Given the description of an element on the screen output the (x, y) to click on. 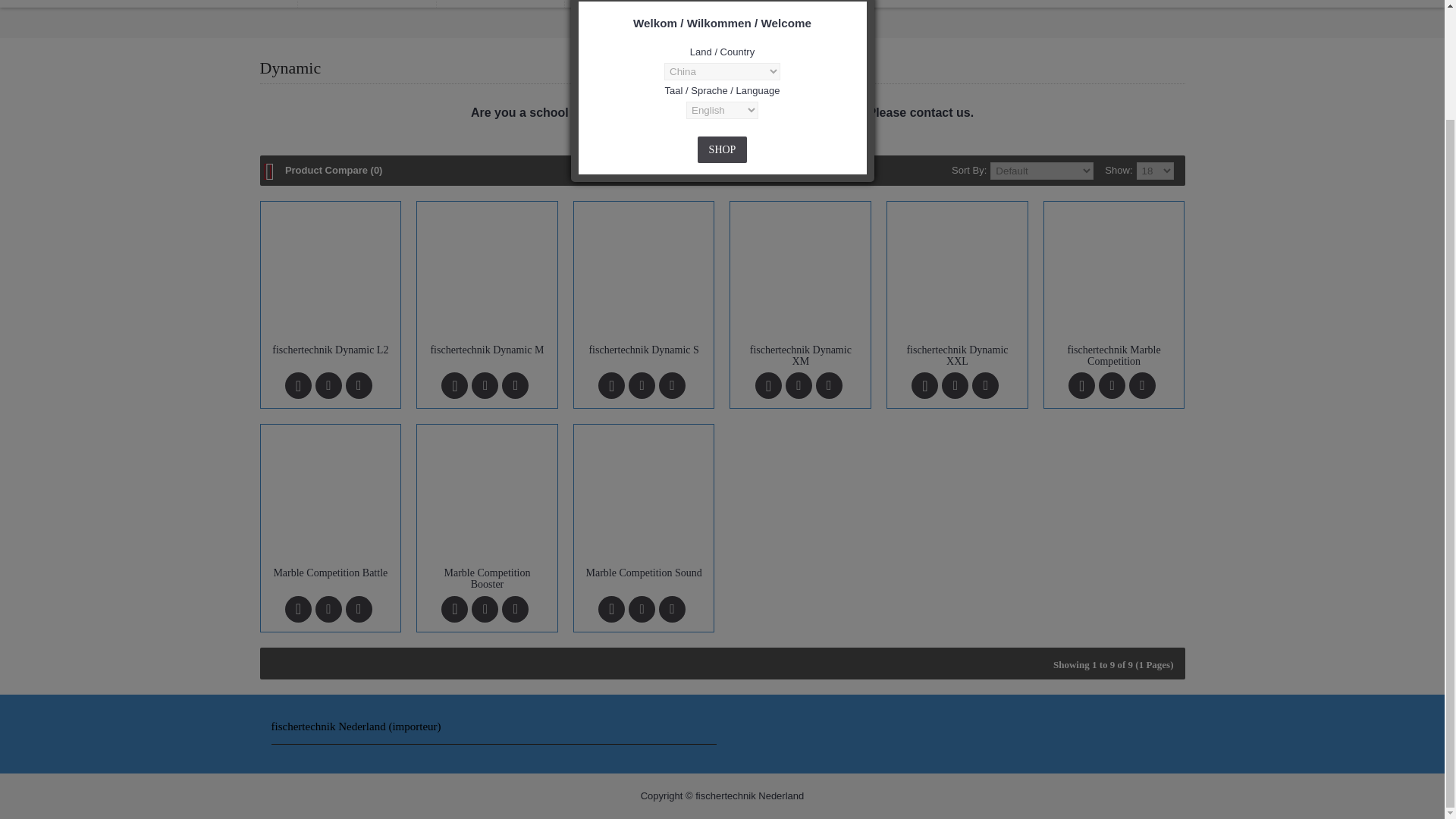
fischertechnik Dynamic XXL (957, 271)
CONSTRUCTION KITS (366, 3)
Marble Competition Sound (644, 494)
Shop (722, 149)
Marble Competition Battle (329, 494)
TRAINING MODELS (500, 3)
Marble Competition Booster (486, 494)
fischertechnik Marble Competition (1114, 271)
fischertechnik Dynamic L2 (329, 271)
fischertechnik Dynamic XM (799, 271)
